Given the description of an element on the screen output the (x, y) to click on. 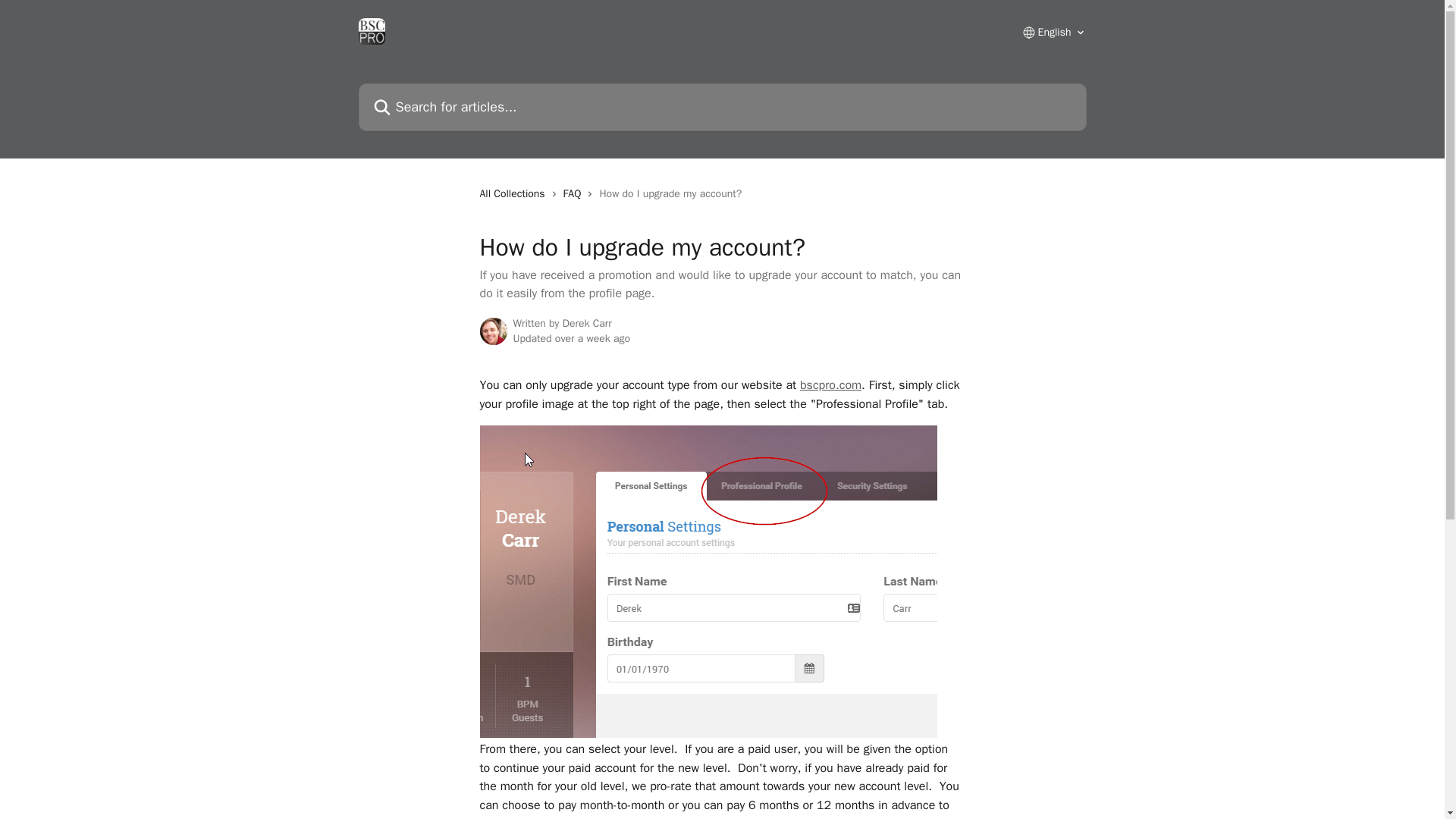
FAQ (575, 193)
bscpro.com (830, 385)
All Collections (514, 193)
